Given the description of an element on the screen output the (x, y) to click on. 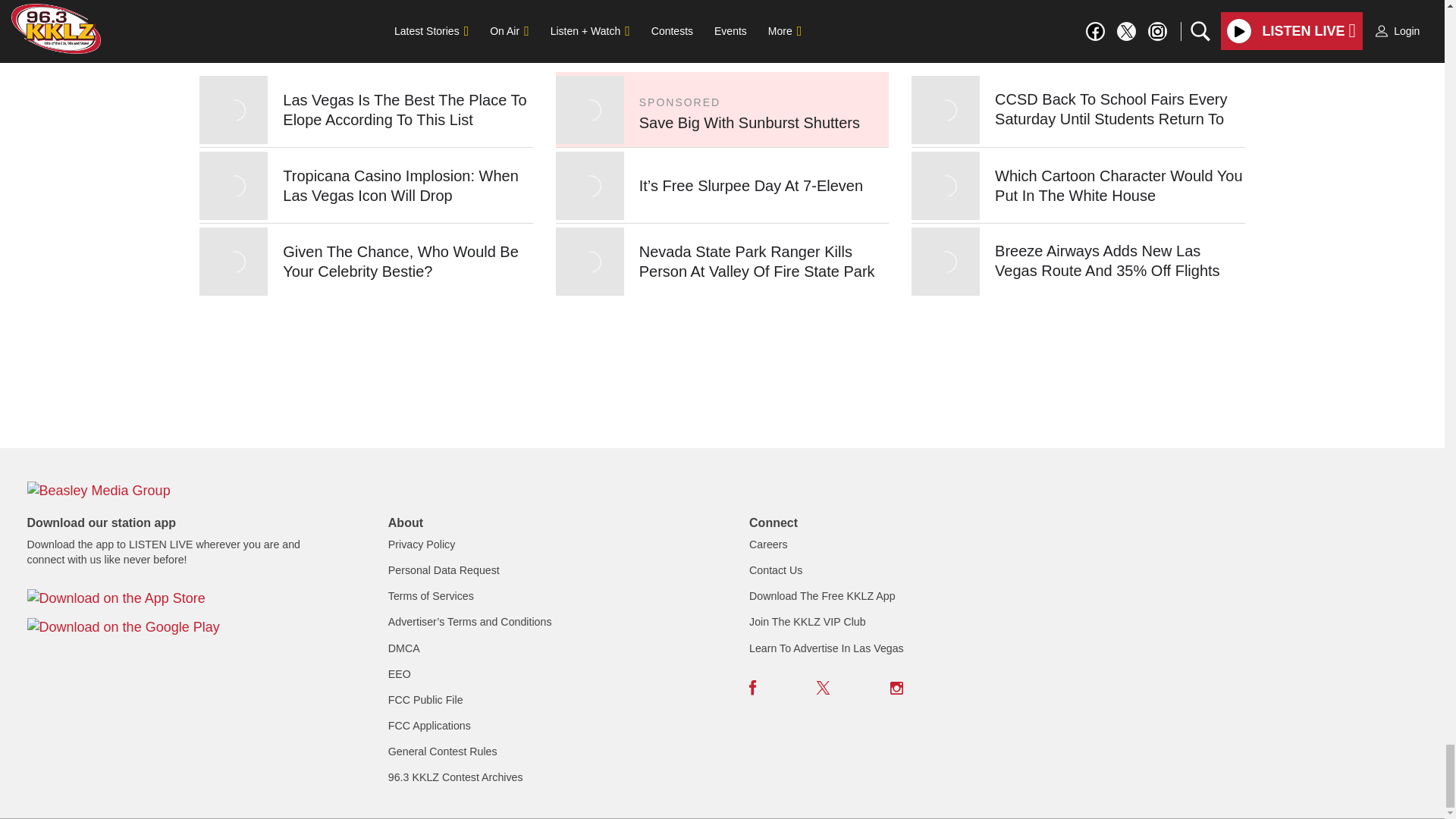
Twitter (823, 687)
Instagram (895, 687)
